Given the description of an element on the screen output the (x, y) to click on. 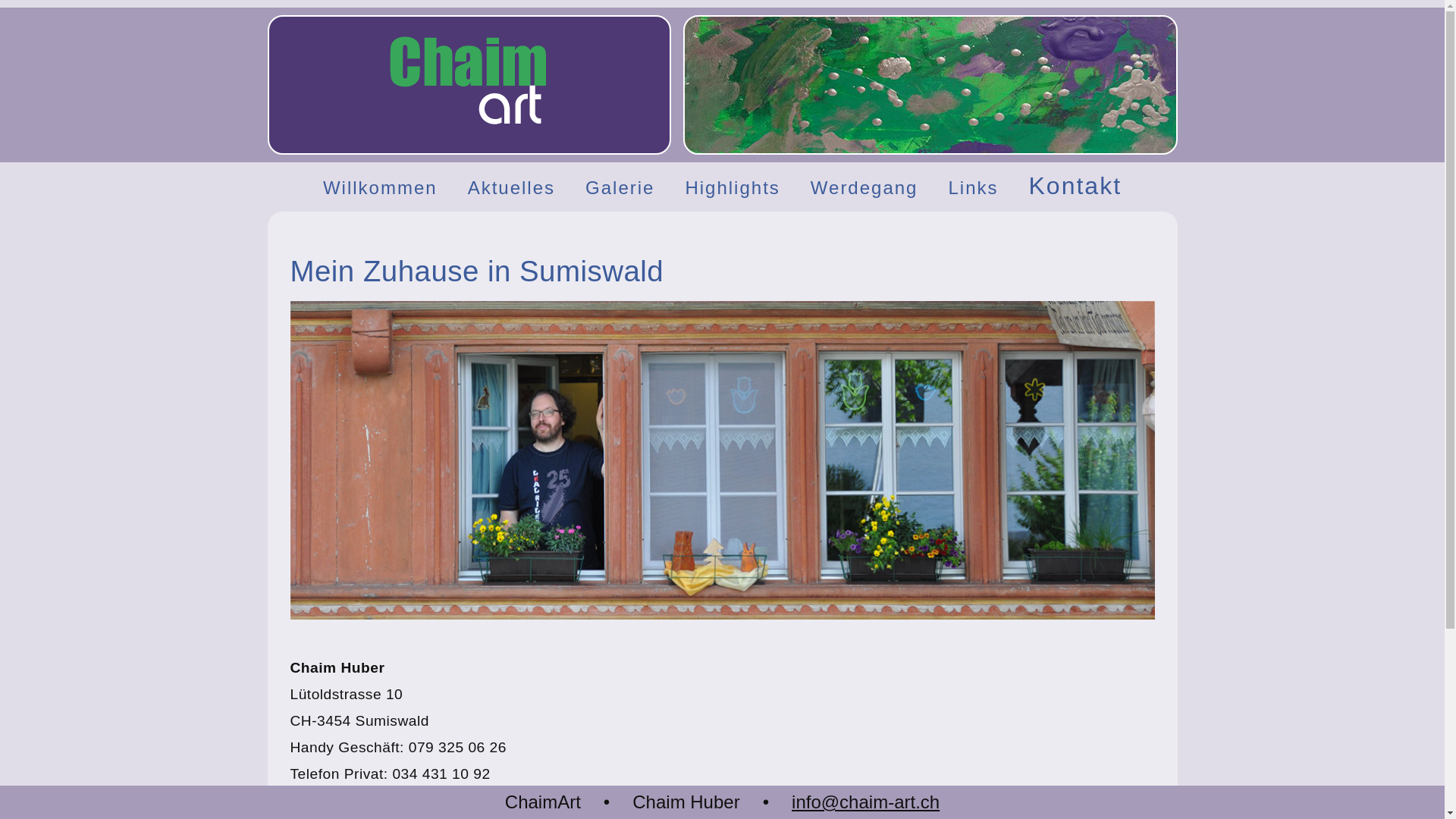
info@chaim-art.ch Element type: text (865, 801)
Highlights Element type: text (731, 186)
Werdegang Element type: text (864, 186)
Aktuelles Element type: text (511, 186)
Kontakt Element type: text (1074, 187)
Startseite Element type: hover (468, 126)
Logo Chaim Art Element type: hover (468, 81)
info@chaim-art.ch Element type: text (404, 800)
Links Element type: text (972, 186)
Galerie Element type: text (619, 186)
Willkommen Element type: text (379, 186)
